Given the description of an element on the screen output the (x, y) to click on. 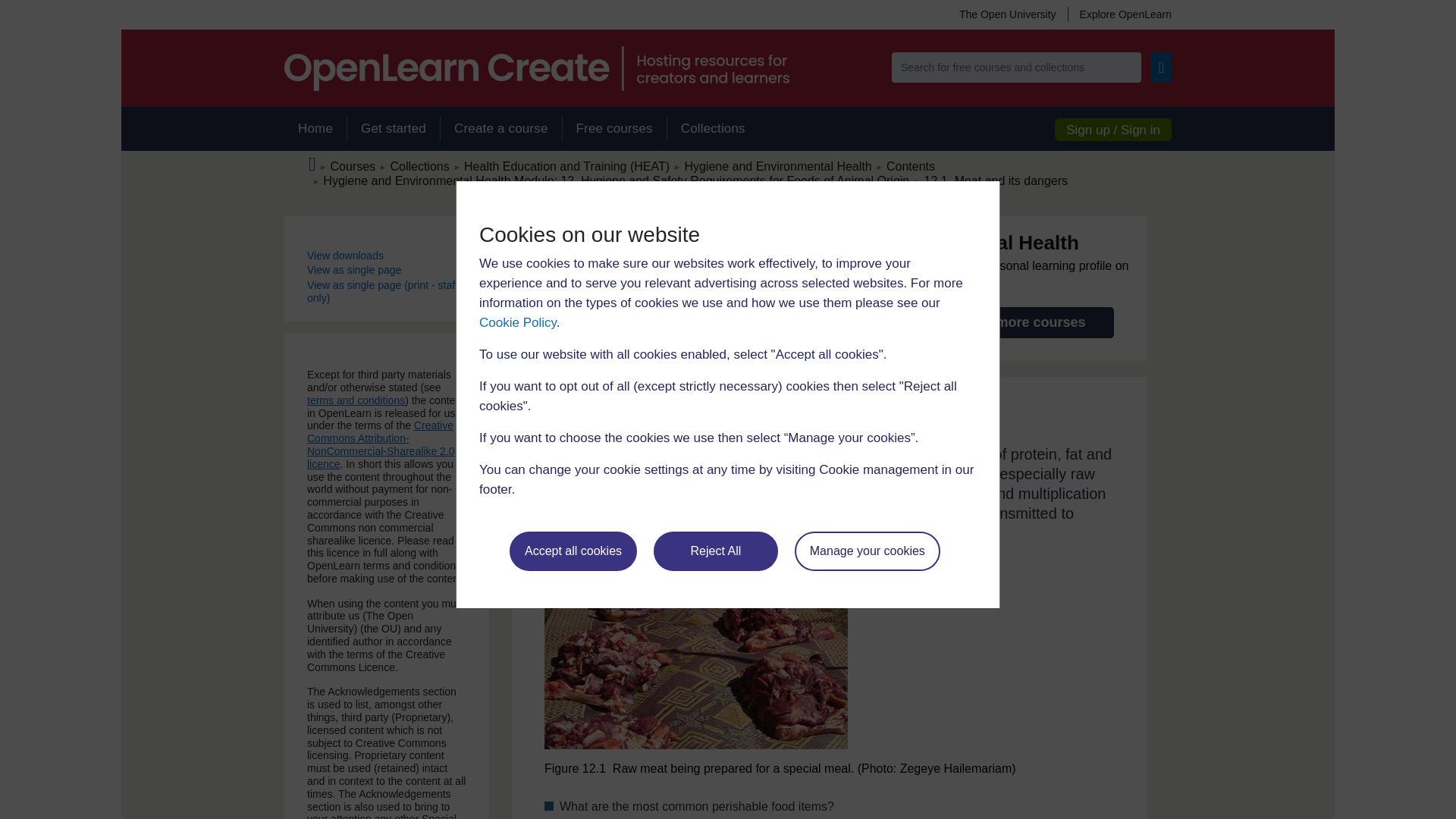
The Open University (1007, 14)
OpenLearn Create (536, 67)
Home (314, 128)
The Open University (1007, 14)
Manage your cookies (867, 550)
Cookie Policy (517, 322)
Get started (392, 128)
SC Web Editor (615, 180)
Reject All (715, 550)
Accept all cookies (573, 550)
Collections (712, 128)
Free courses (614, 128)
Explore OpenLearn (1119, 14)
Explore OpenLearn (1119, 14)
Create a course (500, 128)
